Given the description of an element on the screen output the (x, y) to click on. 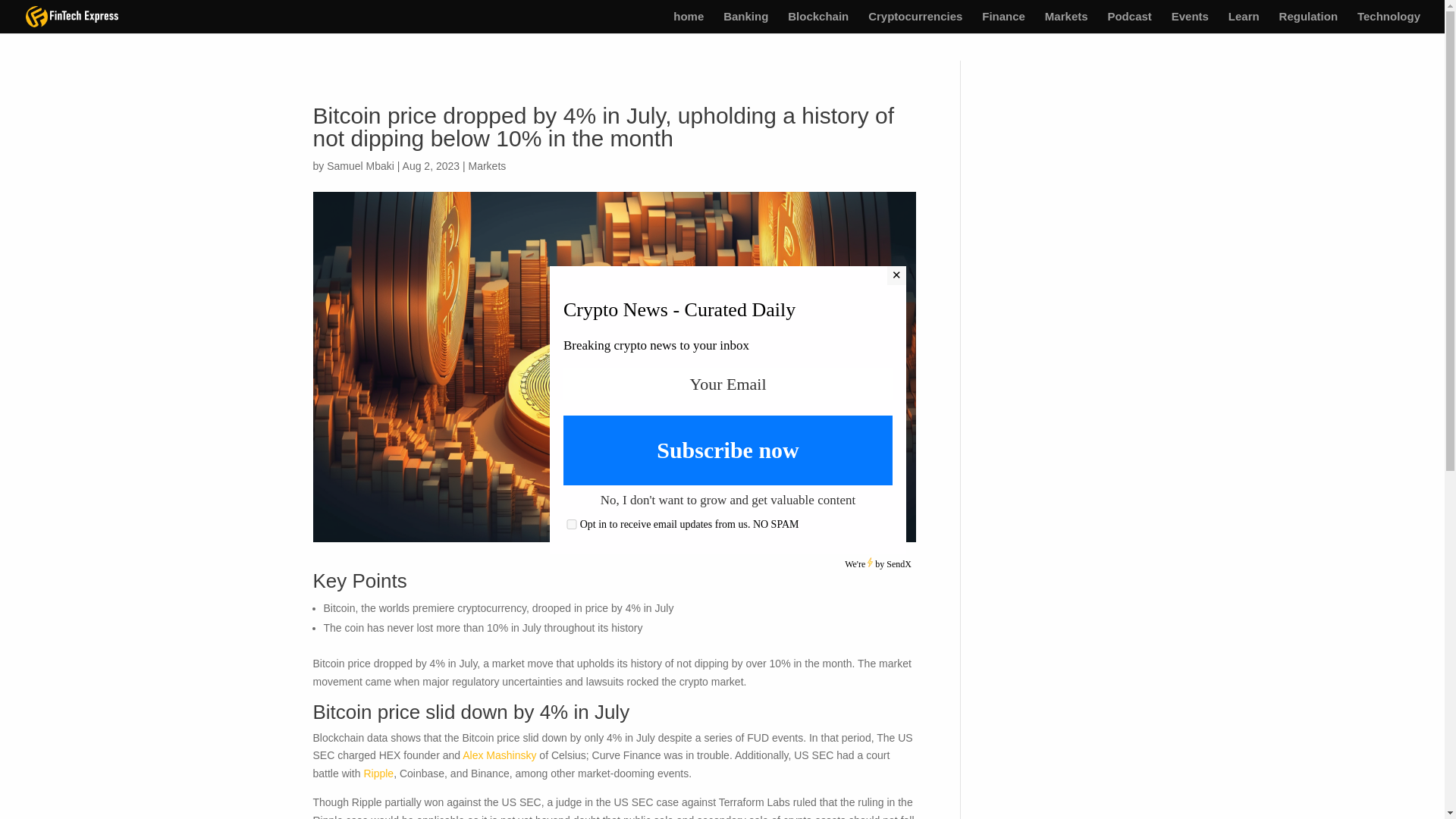
Samuel Mbaki (360, 165)
Markets (486, 165)
Markets (1066, 22)
Events (1190, 22)
on (571, 524)
Ripple (377, 773)
Cryptocurrencies (914, 22)
Finance (1003, 22)
Banking (745, 22)
Regulation (1308, 22)
